Given the description of an element on the screen output the (x, y) to click on. 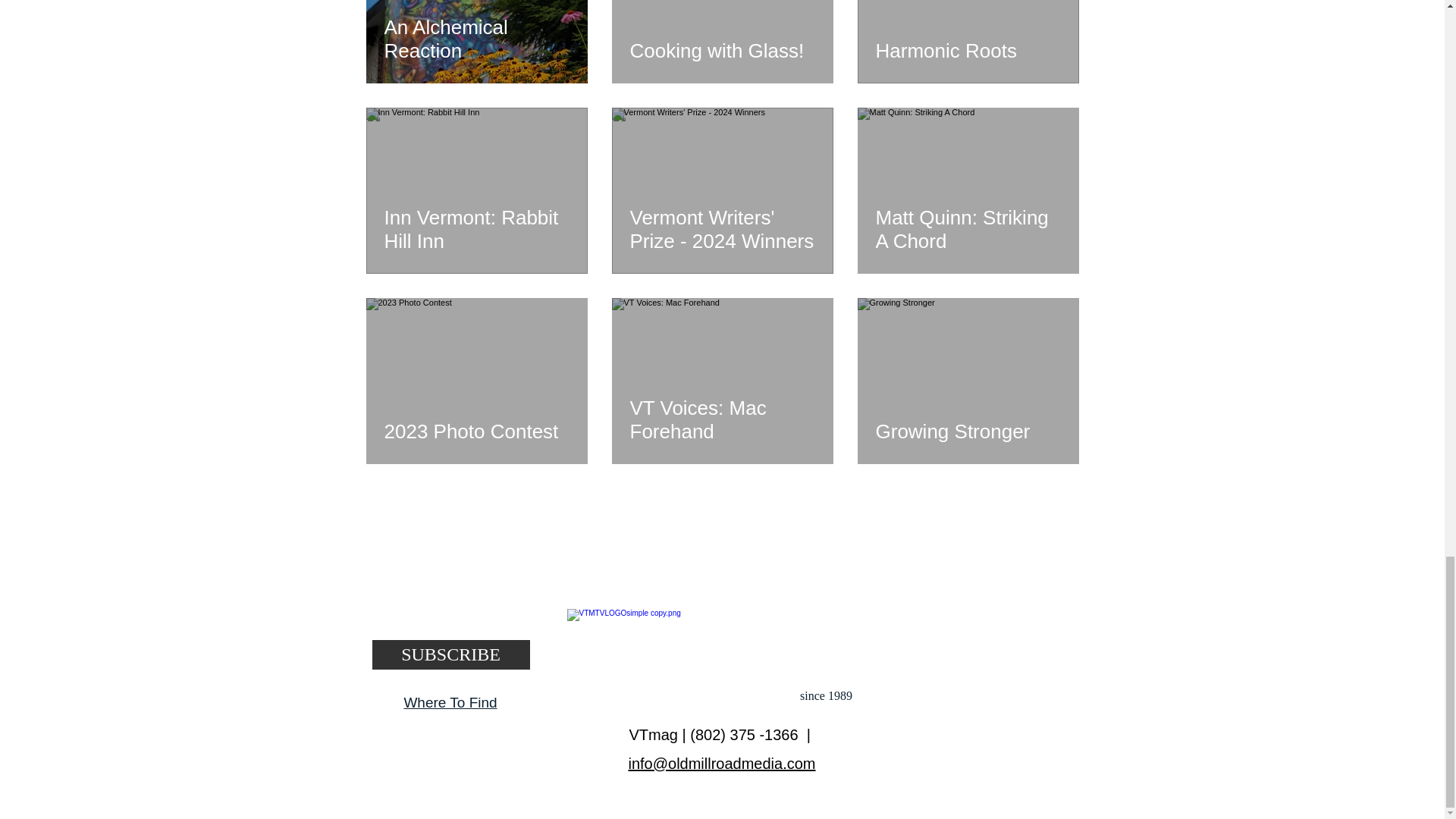
Inn Vermont: Rabbit Hill Inn (476, 229)
2023 Photo Contest (476, 431)
Where To Find (449, 702)
Matt Quinn: Striking A Chord (967, 229)
Harmonic Roots (967, 50)
VT Voices: Mac Forehand (720, 419)
Growing Stronger (967, 431)
Vermont Writers' Prize - 2024 Winners (720, 229)
SUBSCRIBE (450, 654)
Cooking with Glass! (720, 50)
